Given the description of an element on the screen output the (x, y) to click on. 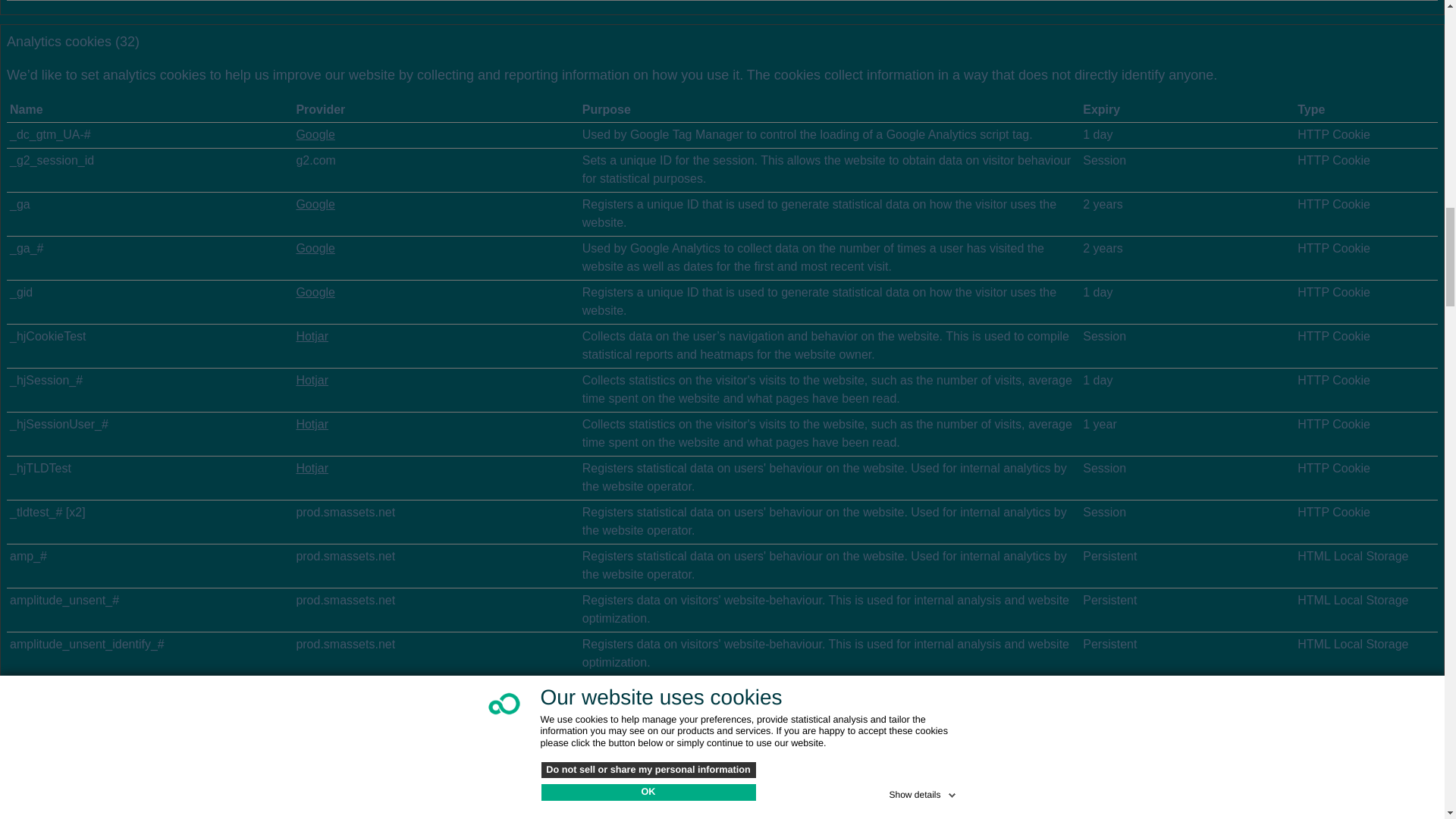
Google (314, 247)
Canva (312, 687)
Canva (312, 713)
SurveyMonkey (335, 765)
Hotjar (312, 423)
Google (314, 809)
Google (314, 133)
Hotjar (312, 336)
Hotjar (312, 379)
Google (314, 291)
Hotjar (312, 468)
Google (314, 204)
LinkedIn (318, 739)
